Given the description of an element on the screen output the (x, y) to click on. 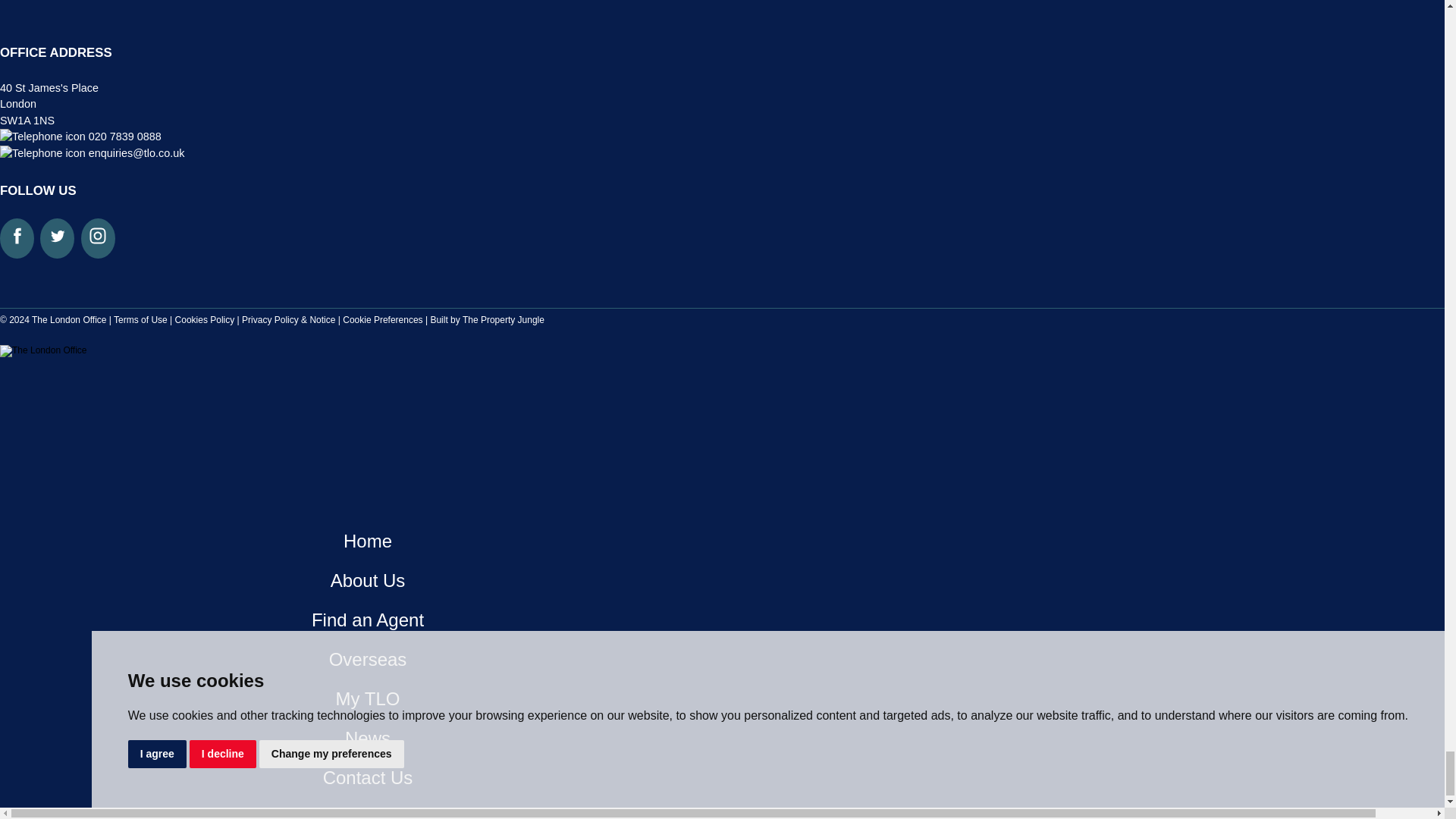
Privacy Policy (287, 319)
Terms of Use (140, 319)
Website Built by The Property Jungle (486, 319)
